Given the description of an element on the screen output the (x, y) to click on. 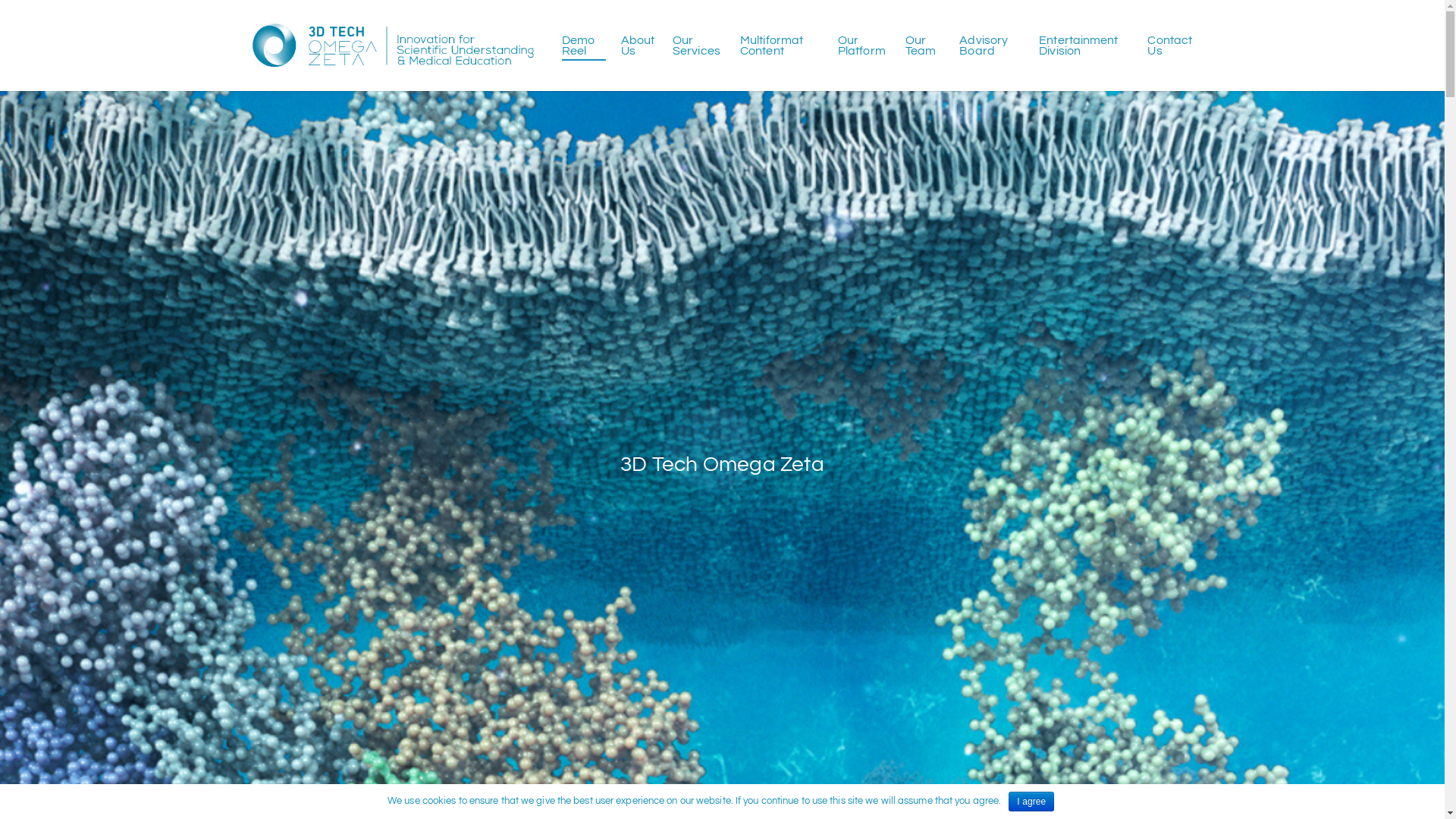
Our Services Element type: text (698, 45)
Our Platform Element type: text (863, 45)
Multiformat Content Element type: text (781, 45)
Demo Reel Element type: text (583, 45)
I agree Element type: text (1031, 801)
Advisory Board Element type: text (991, 45)
Entertainment Division Element type: text (1085, 45)
Our Team Element type: text (924, 45)
About Us Element type: text (639, 45)
Contact Us Element type: text (1170, 45)
